Given the description of an element on the screen output the (x, y) to click on. 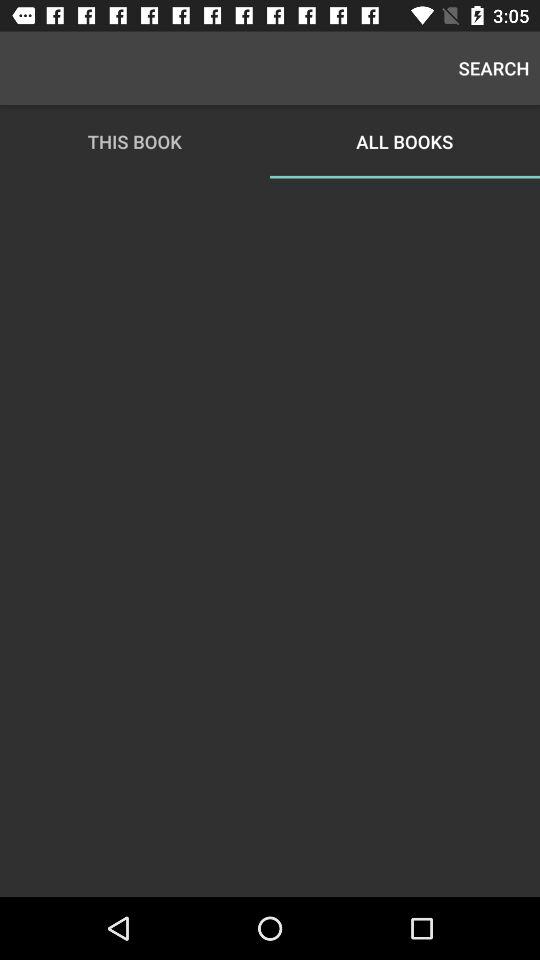
choose the search (494, 67)
